Given the description of an element on the screen output the (x, y) to click on. 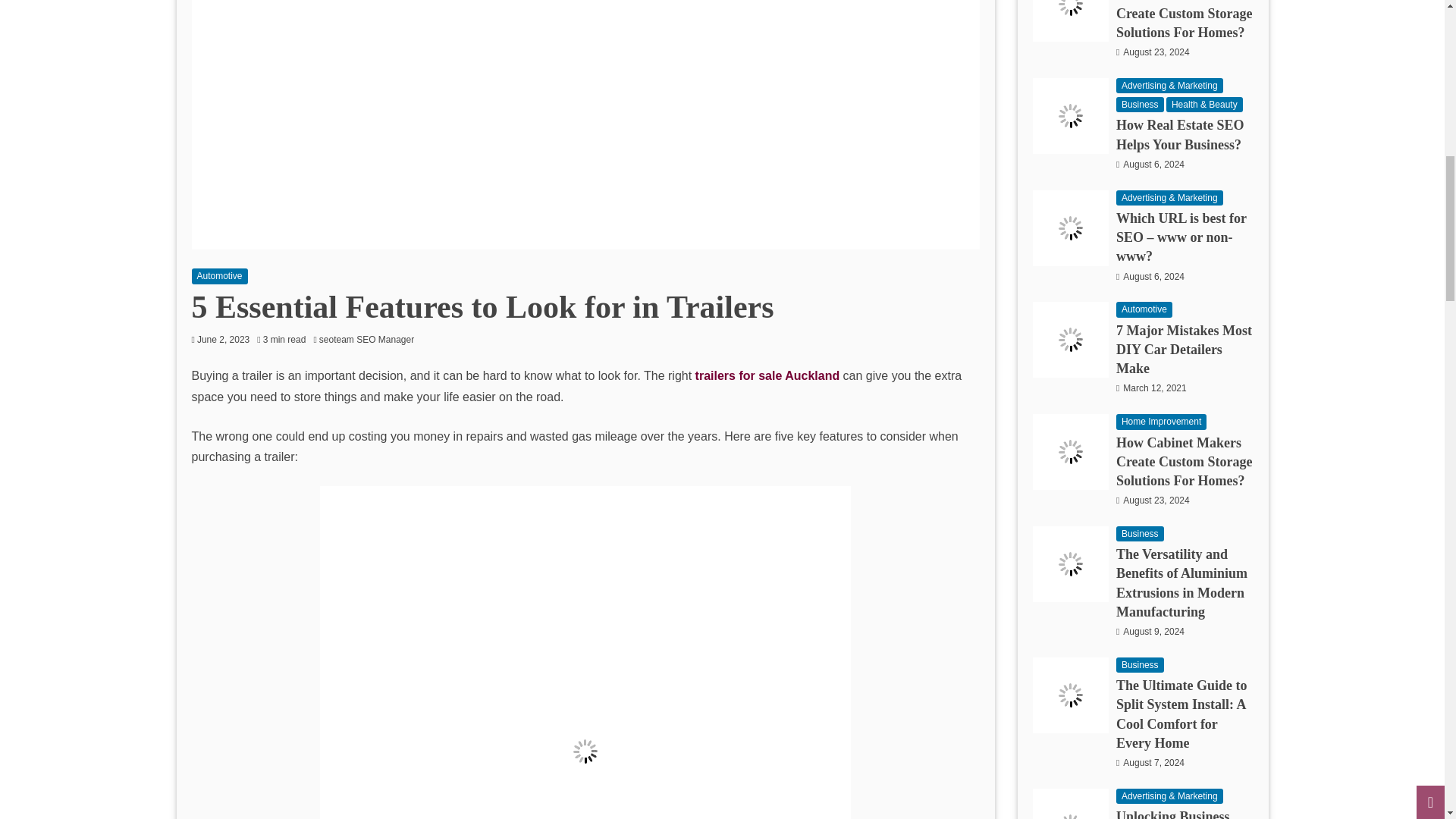
June 2, 2023 (222, 339)
Automotive (218, 275)
Trailers for Sale Auckland (767, 375)
seoteam SEO Manager (370, 339)
trailers for sale Auckland (767, 375)
